Given the description of an element on the screen output the (x, y) to click on. 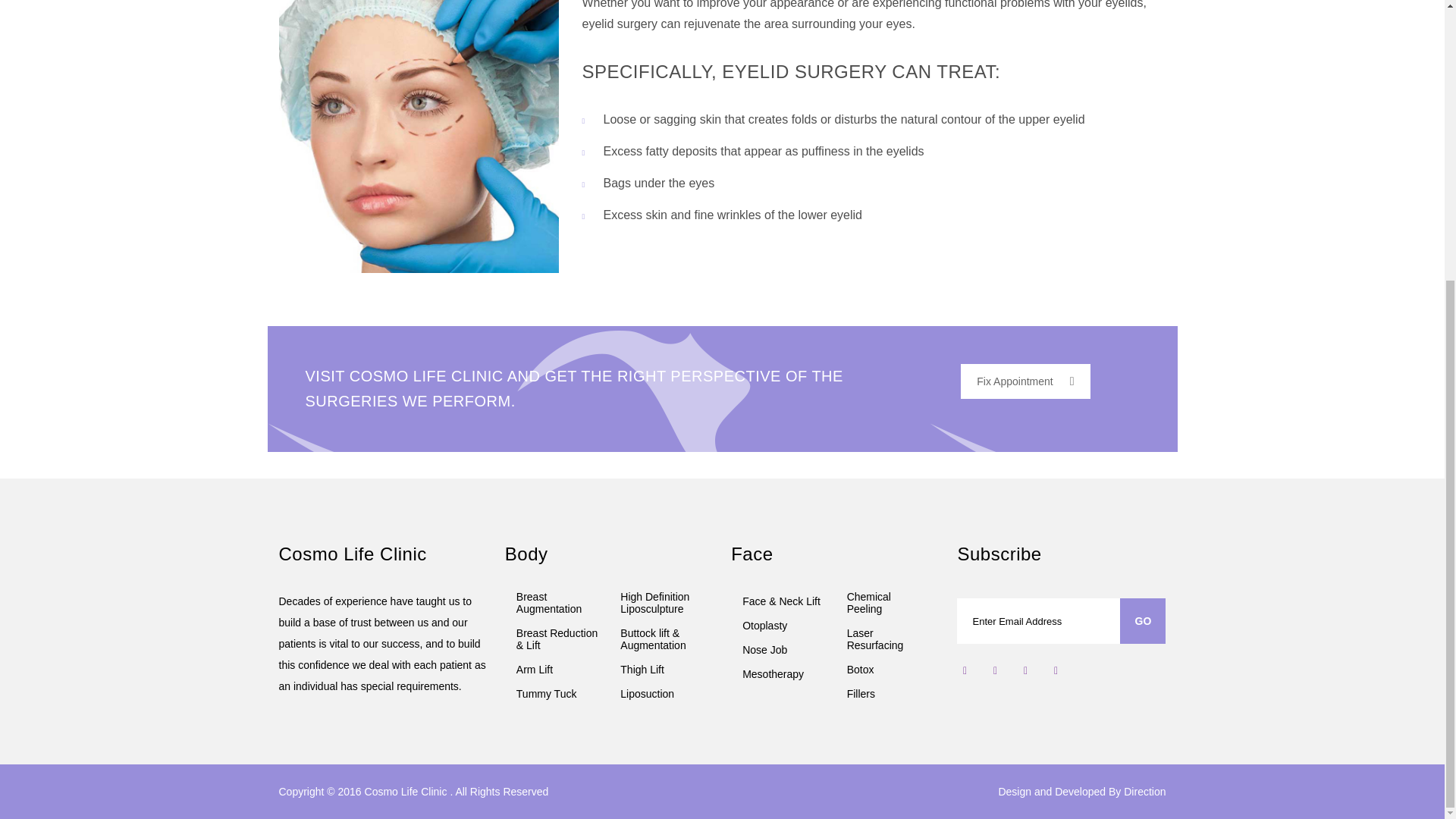
Tummy Tuck (556, 690)
Fix Appointment (1024, 380)
Thigh Lift (660, 665)
Breast Augmentation (556, 602)
Go (1142, 620)
Arm Lift (556, 665)
High Definition Liposculpture (660, 602)
Liposuction (660, 690)
